Given the description of an element on the screen output the (x, y) to click on. 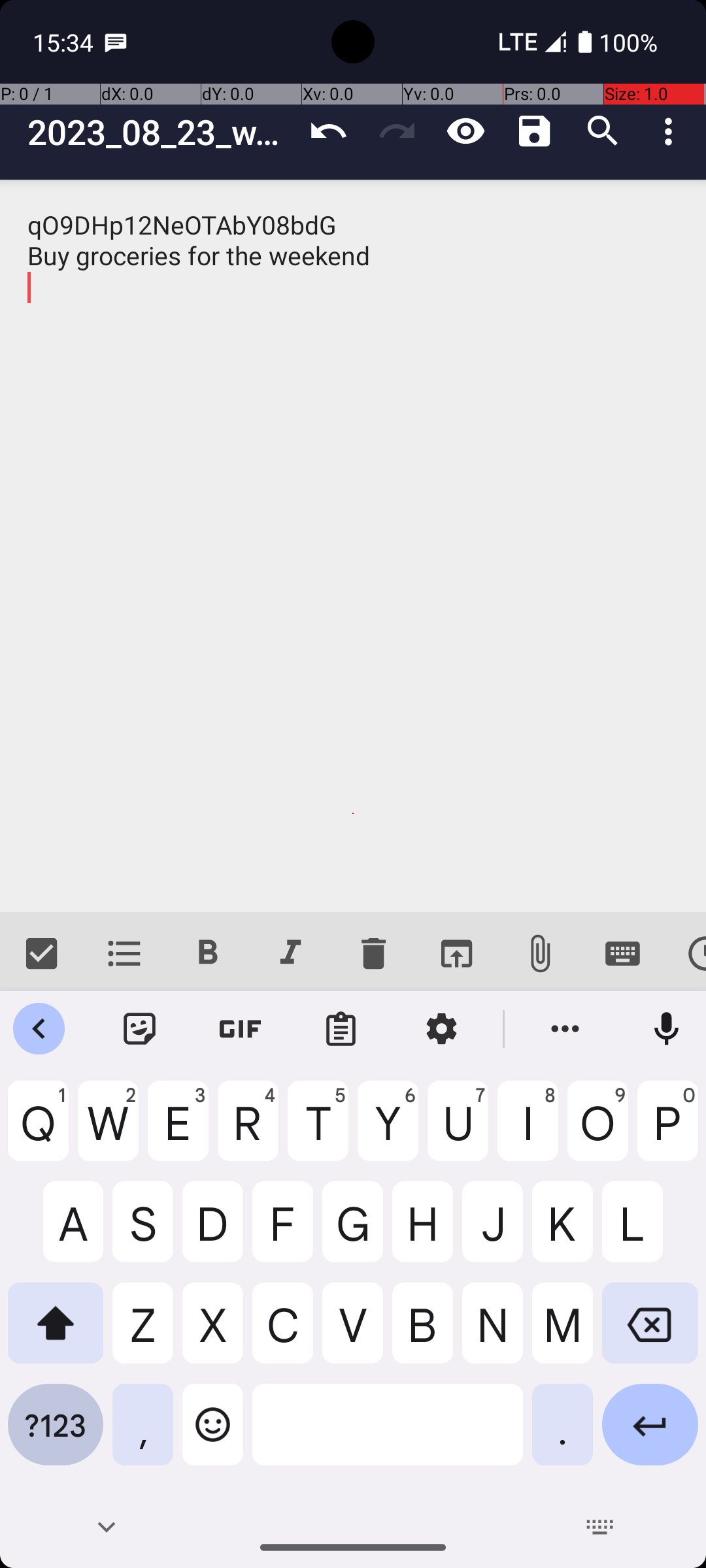
2023_08_23_weekend_todo_list Element type: android.widget.TextView (160, 131)
qO9DHp12NeOTAbY08bdG
Buy groceries for the weekend
 Element type: android.widget.EditText (353, 545)
